Given the description of an element on the screen output the (x, y) to click on. 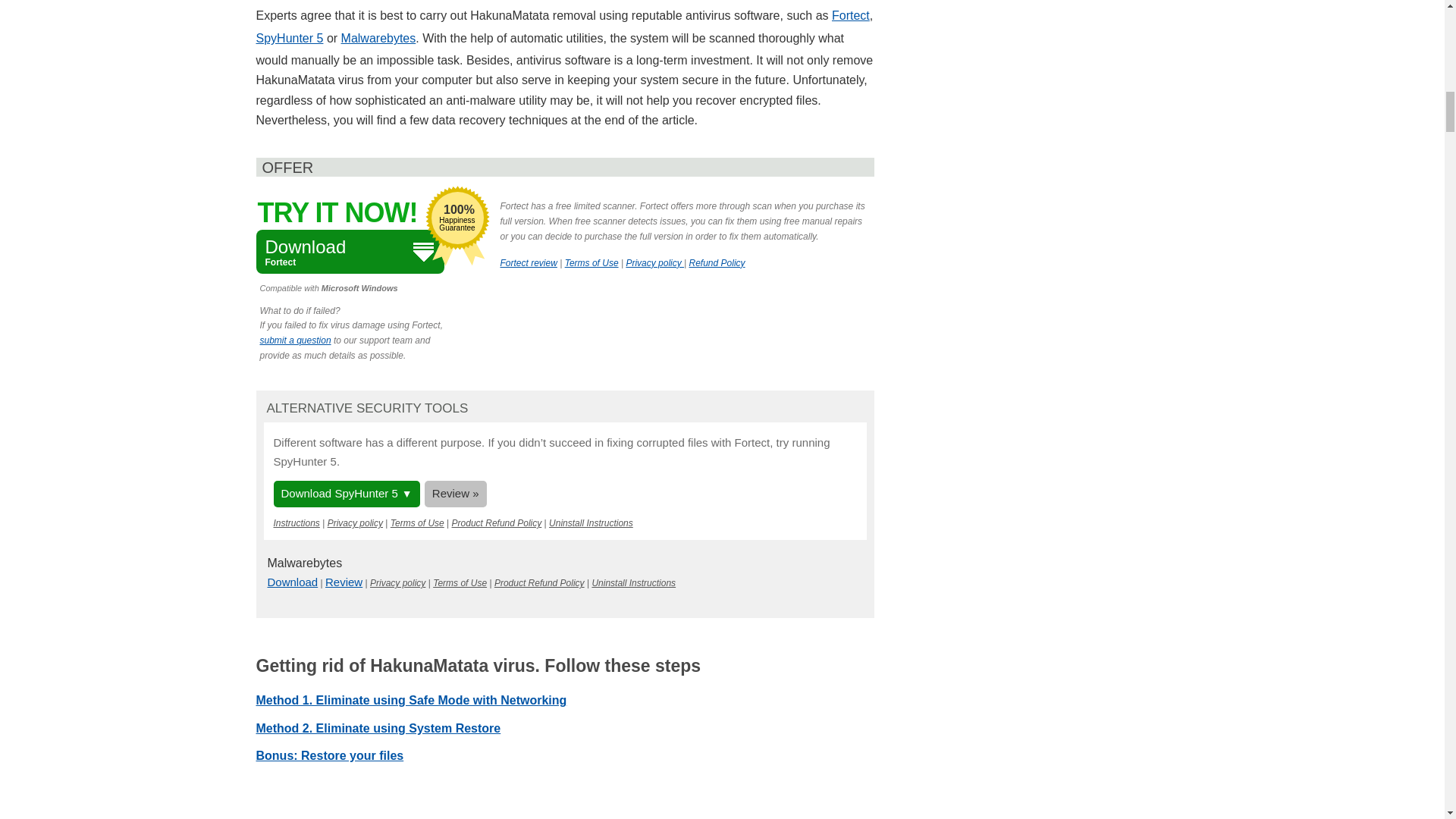
SpyHunter 5 review (455, 493)
Malwarebytes review (343, 581)
Fortect (850, 15)
Download Malwarebytes (291, 581)
SpyHunter 5 (289, 38)
